Given the description of an element on the screen output the (x, y) to click on. 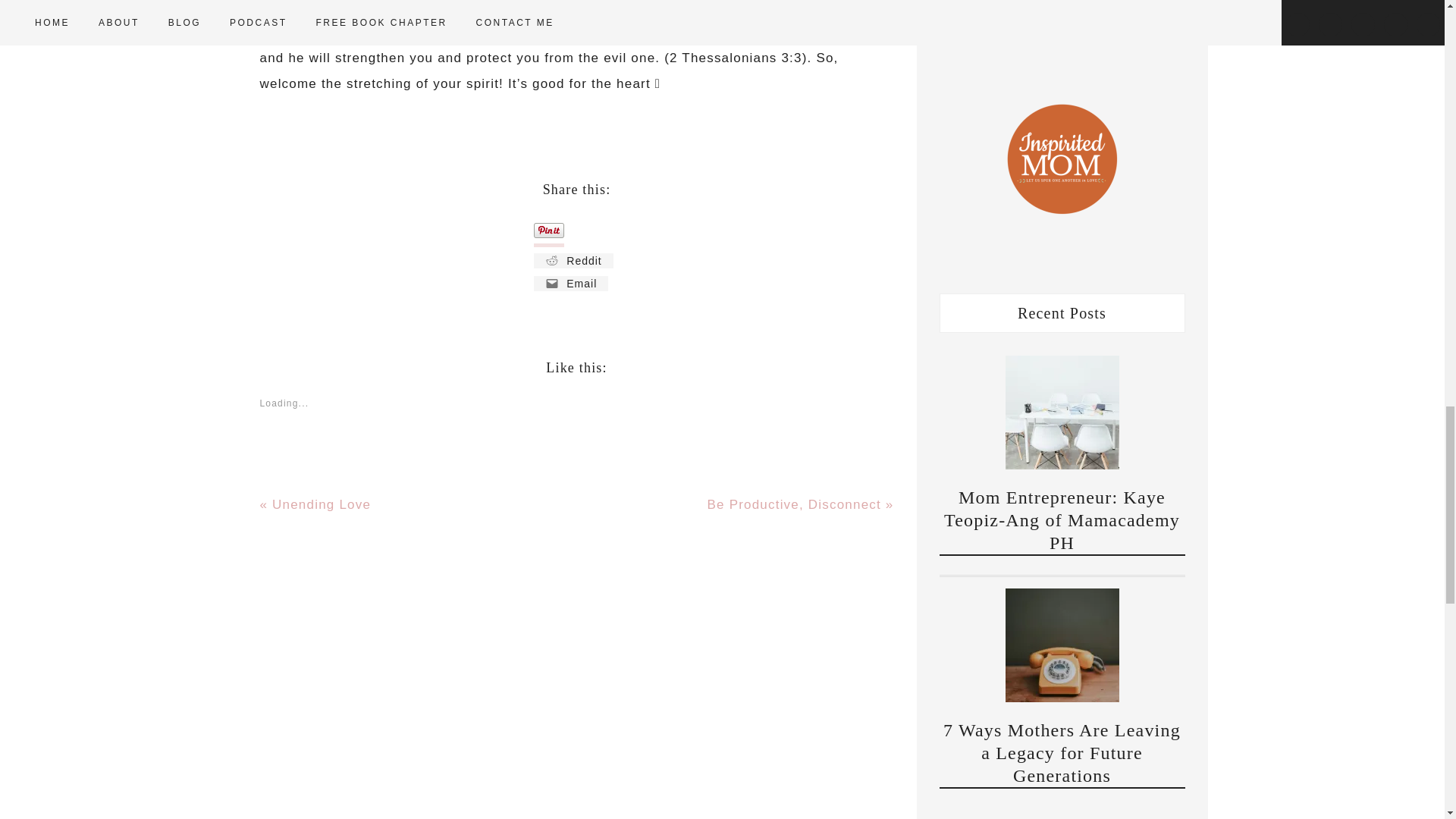
Click to share on Reddit (573, 260)
Email (571, 283)
Click to email a link to a friend (571, 283)
Reddit (573, 260)
Mom Entrepreneur: Kaye Teopiz-Ang of Mamacademy PH (1061, 519)
